Given the description of an element on the screen output the (x, y) to click on. 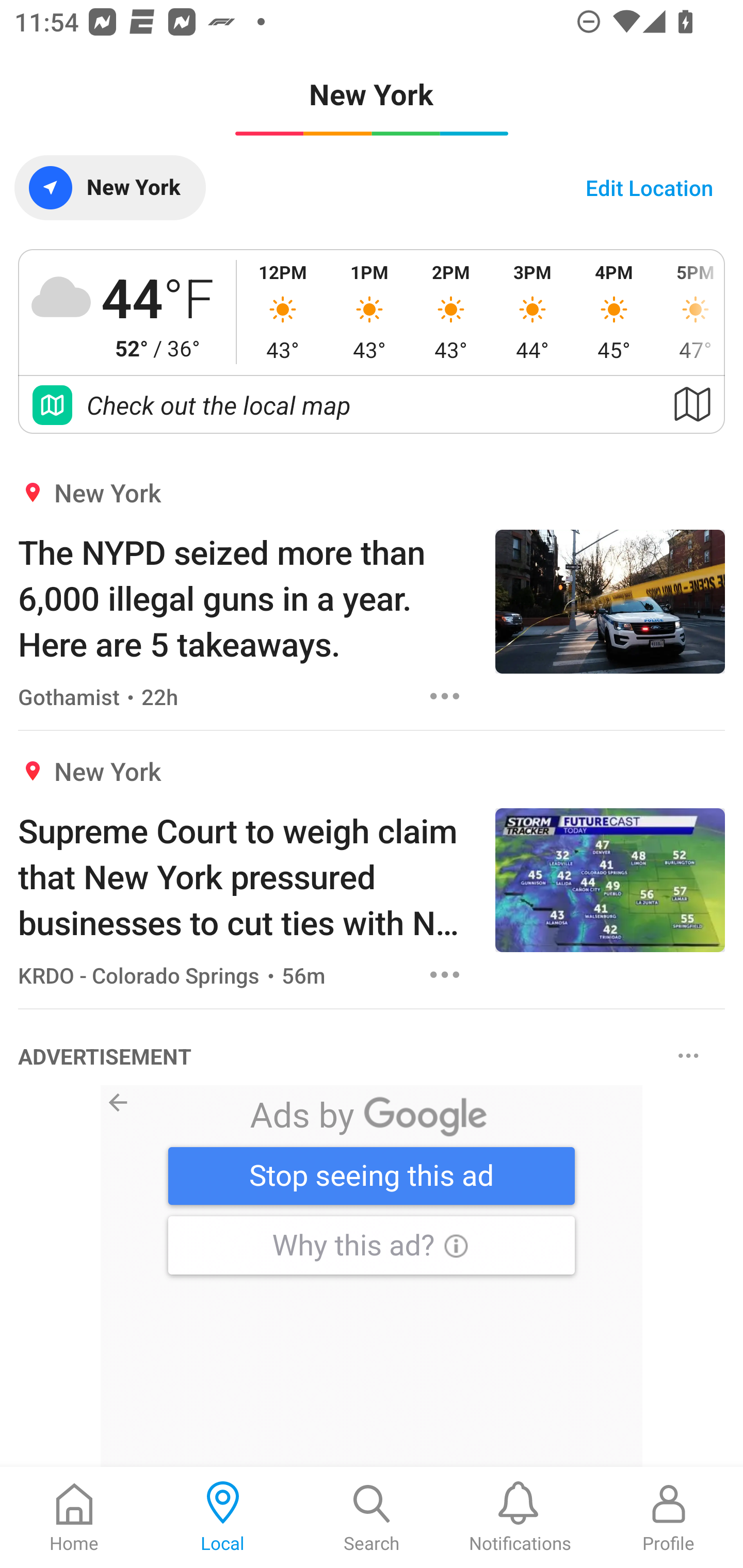
New York (109, 187)
Edit Location (648, 187)
12PM 43° (282, 311)
1PM 43° (369, 311)
2PM 43° (450, 311)
3PM 44° (532, 311)
4PM 45° (613, 311)
5PM 47° (689, 311)
Check out the local map (371, 405)
Options (444, 696)
Options (444, 975)
Options (688, 1056)
28 (371, 1276)
Home (74, 1517)
Search (371, 1517)
Notifications (519, 1517)
Profile (668, 1517)
